Given the description of an element on the screen output the (x, y) to click on. 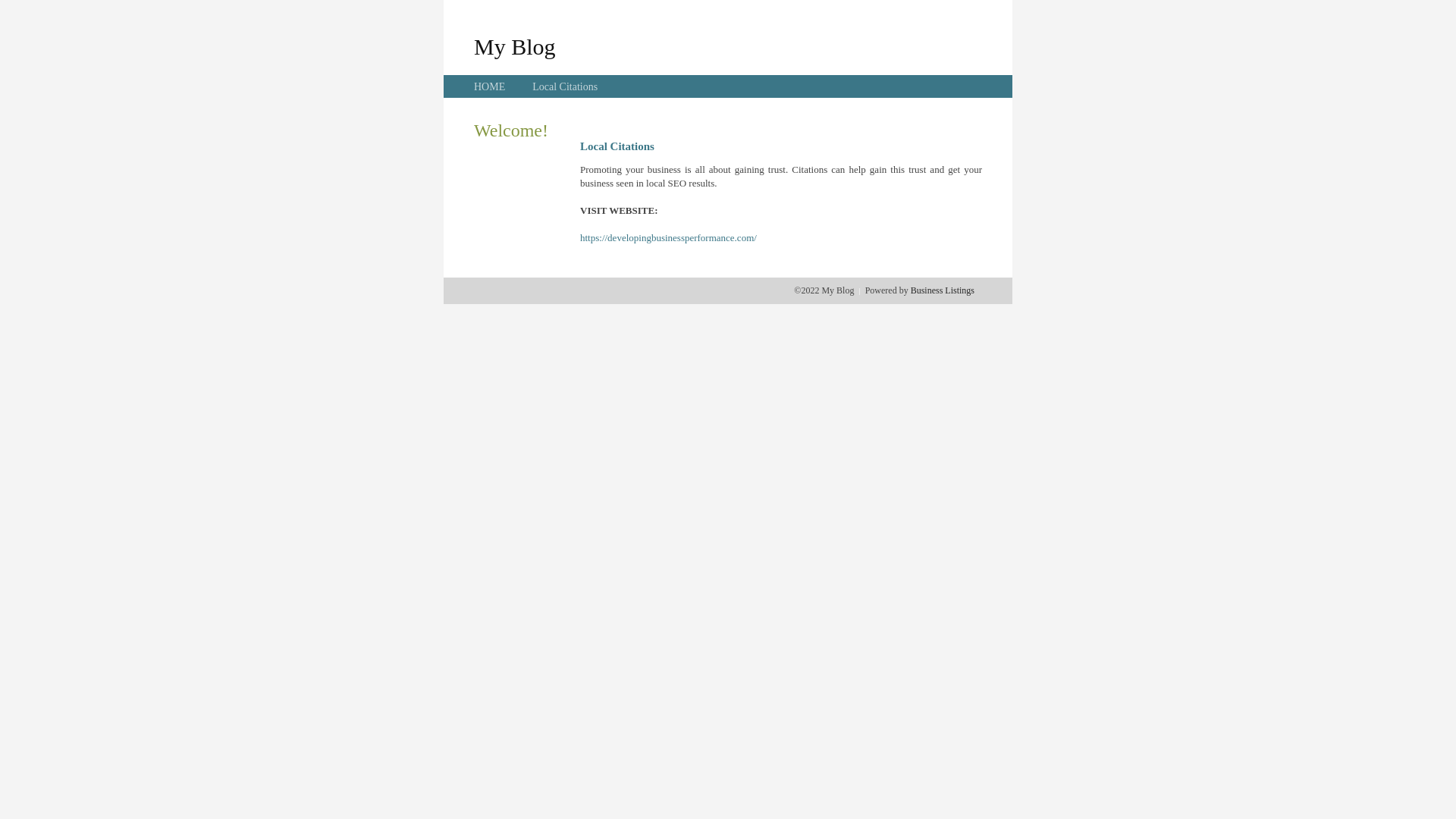
My Blog Element type: text (514, 46)
https://developingbusinessperformance.com/ Element type: text (668, 237)
HOME Element type: text (489, 86)
Business Listings Element type: text (942, 290)
Local Citations Element type: text (564, 86)
